Given the description of an element on the screen output the (x, y) to click on. 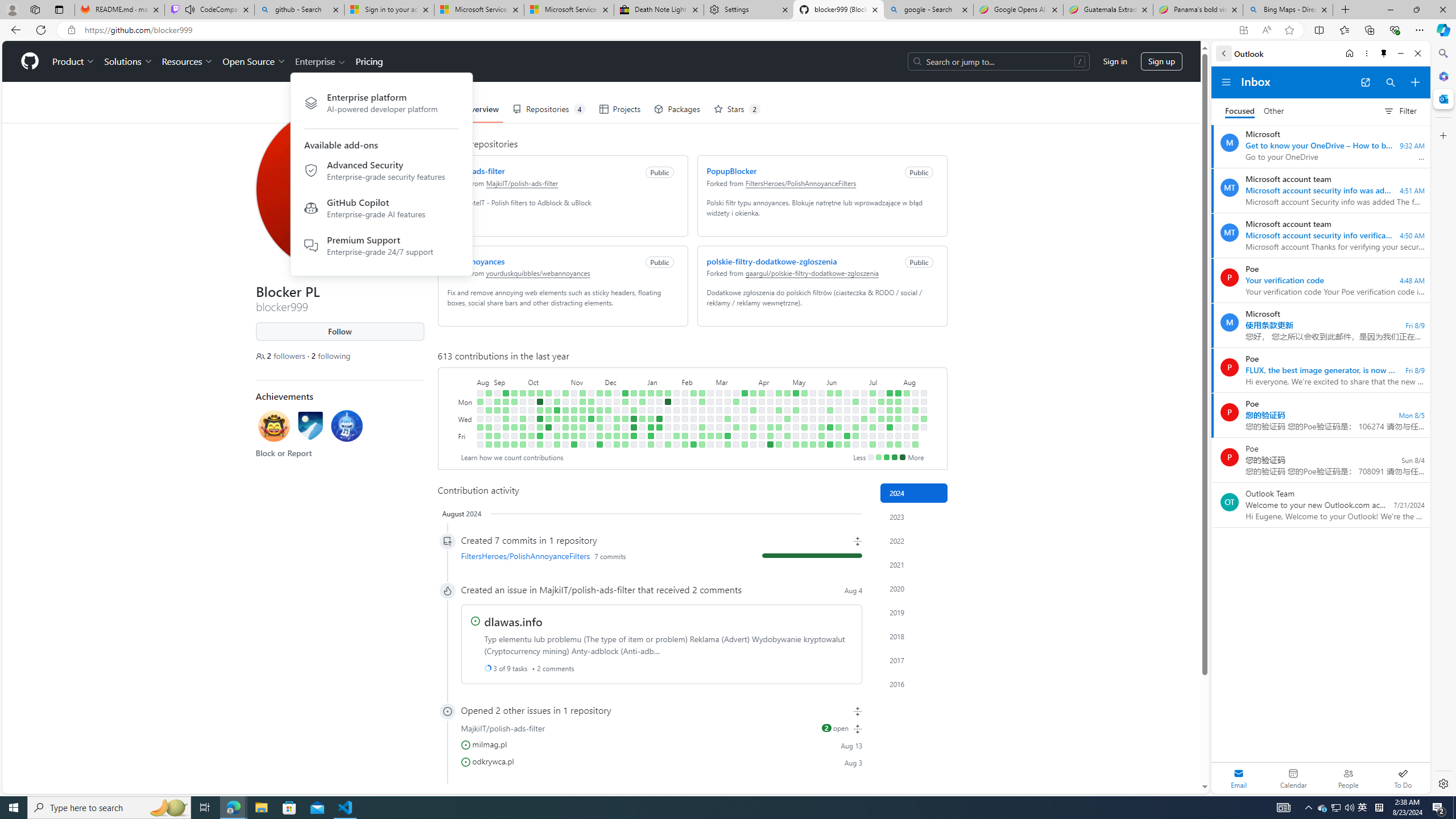
3 contributions on March 16th. (726, 444)
No contributions on March 9th. (718, 444)
No contributions on February 1st. (675, 427)
Block or Report (282, 452)
No contributions on February 26th. (710, 401)
No contributions on August 5th. (906, 401)
1 contribution on March 8th. (718, 435)
2 contributions on October 15th. (547, 392)
Focused Inbox, toggle to go to Other Inbox (1254, 110)
Sign in (1115, 61)
1 contribution on November 21st. (591, 410)
1 contribution on May 31st. (821, 435)
2 contributions on April 23rd. (777, 410)
No contributions on December 10th. (616, 392)
